Given the description of an element on the screen output the (x, y) to click on. 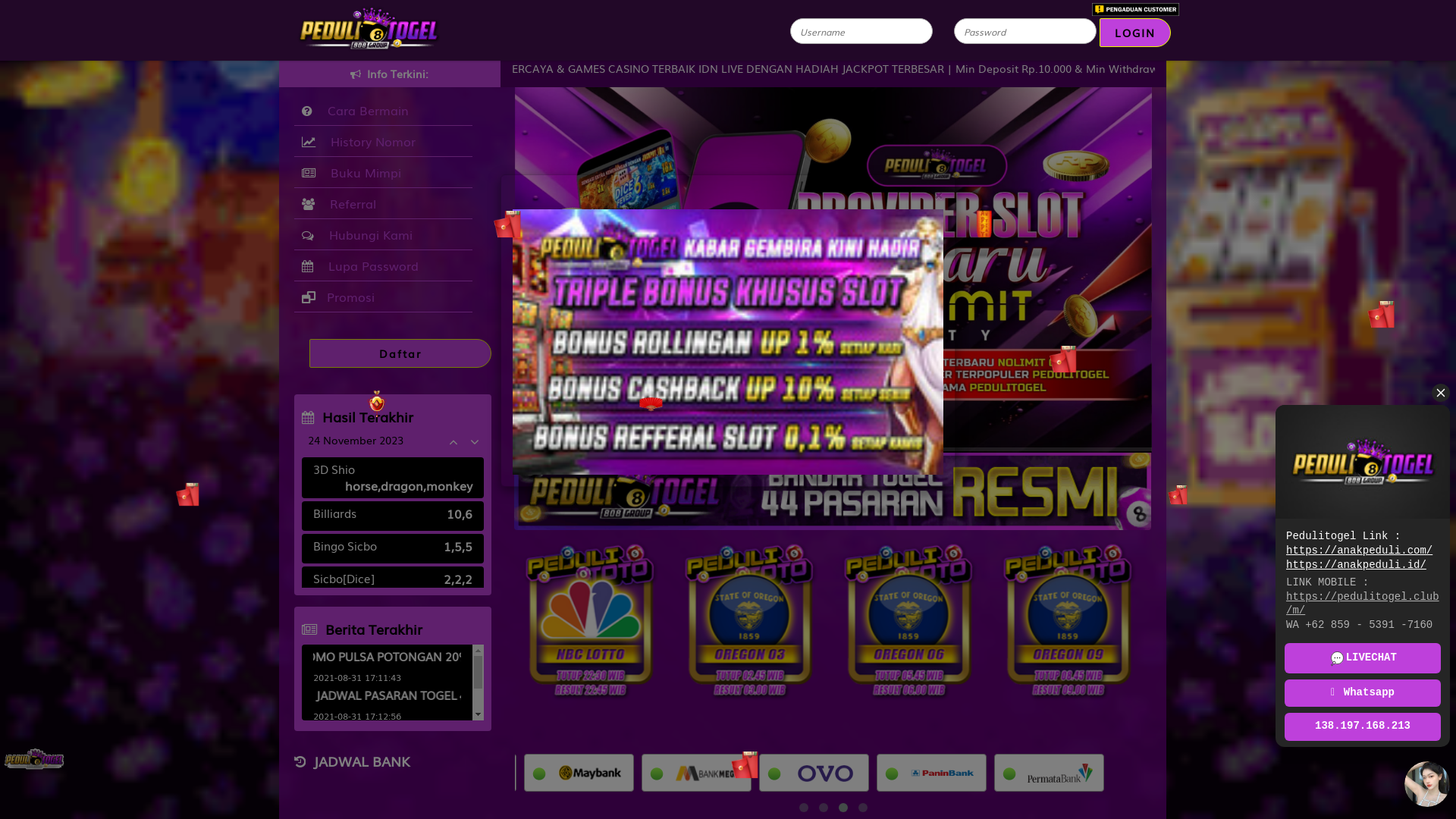
LOGIN Element type: text (1134, 32)
  Lupa Password Element type: text (383, 265)
  Cara Bermain Element type: text (383, 109)
  Hubungi Kami Element type: text (383, 234)
  Buku Mimpi Element type: text (383, 172)
  Referral Element type: text (383, 203)
 Promosi Element type: text (383, 296)
            Daftar             Element type: text (400, 352)
  History Nomor Element type: text (383, 140)
